Given the description of an element on the screen output the (x, y) to click on. 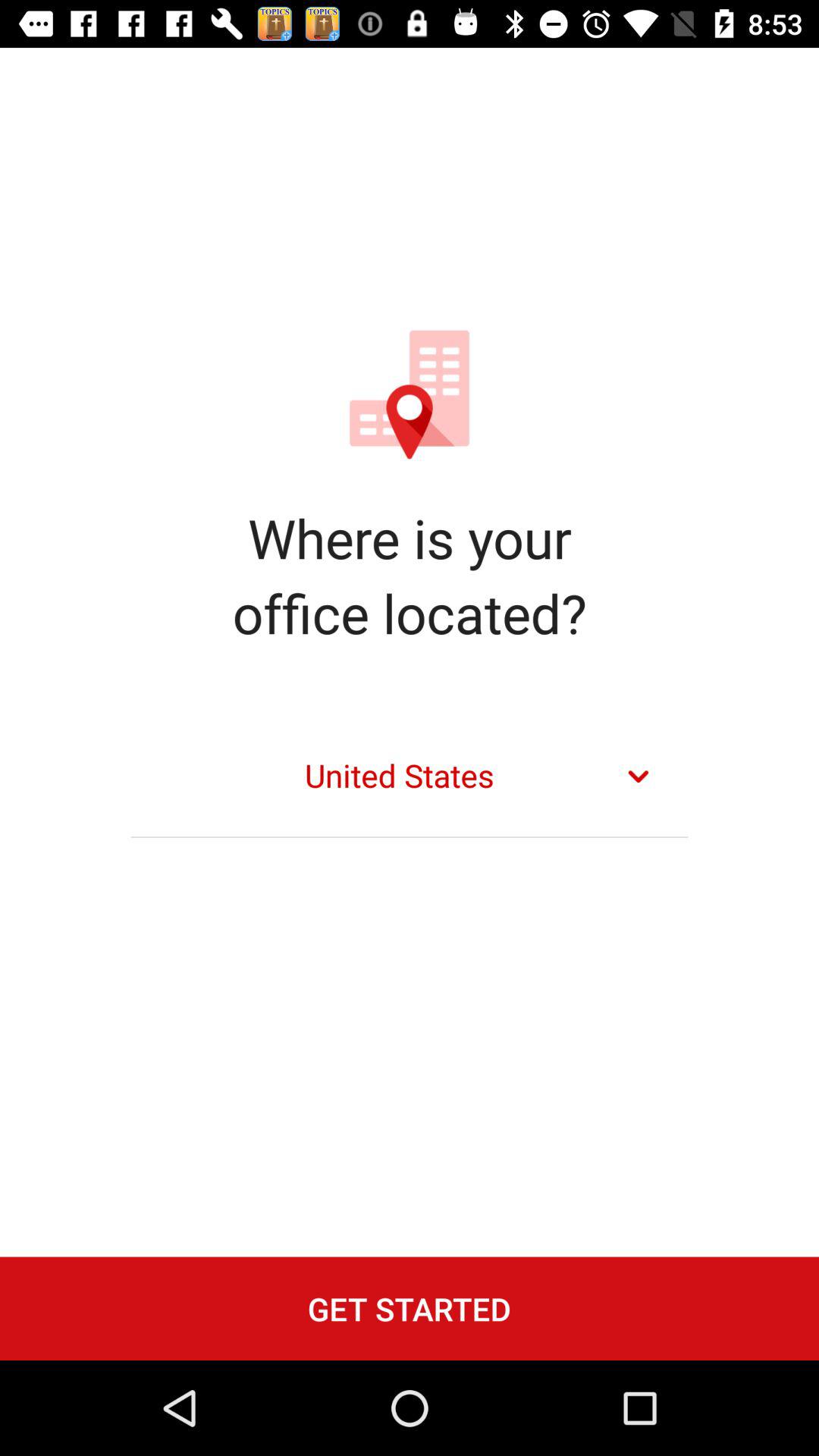
swipe to the get started (409, 1308)
